Given the description of an element on the screen output the (x, y) to click on. 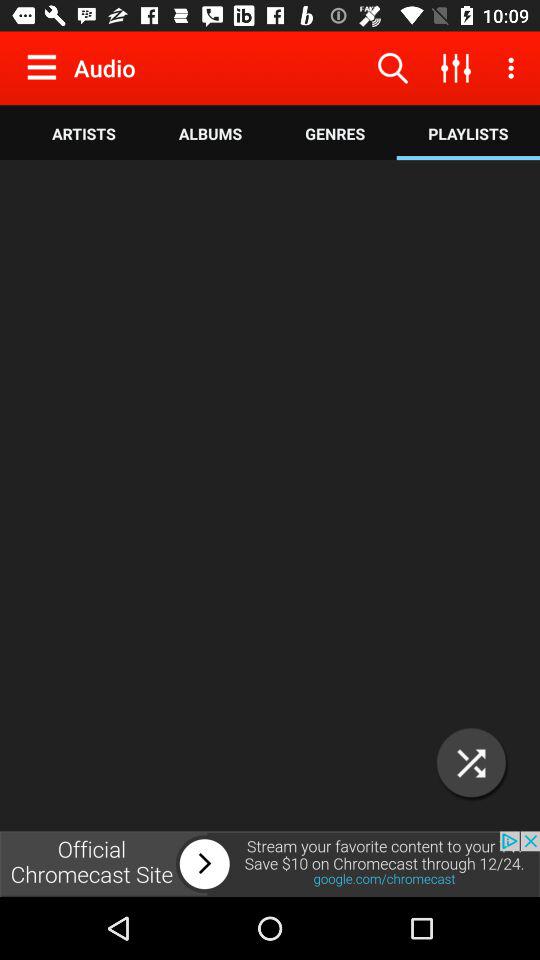
tap advertisement (270, 864)
